Given the description of an element on the screen output the (x, y) to click on. 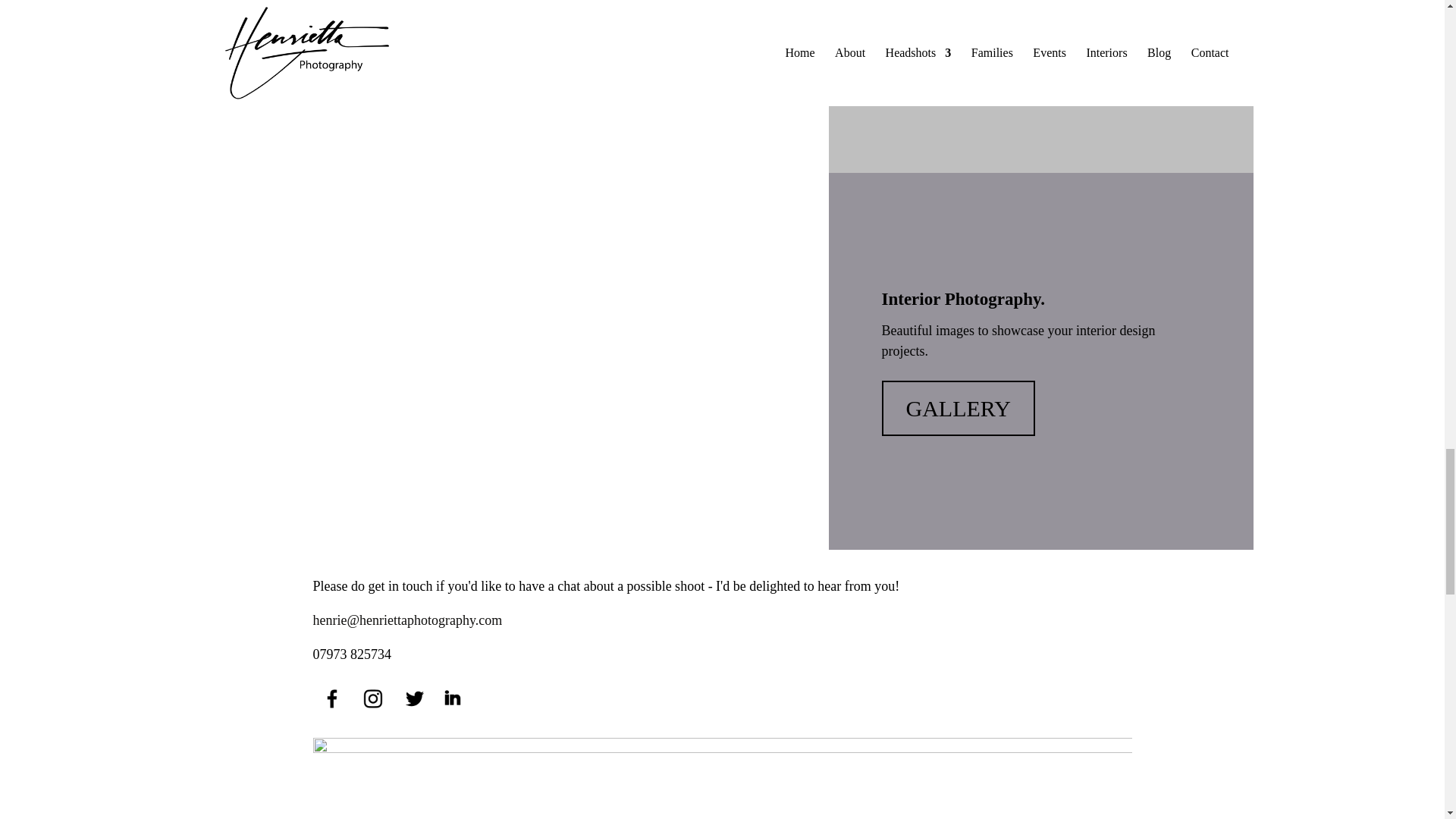
GALLERY (956, 407)
GALLERY (956, 31)
